Given the description of an element on the screen output the (x, y) to click on. 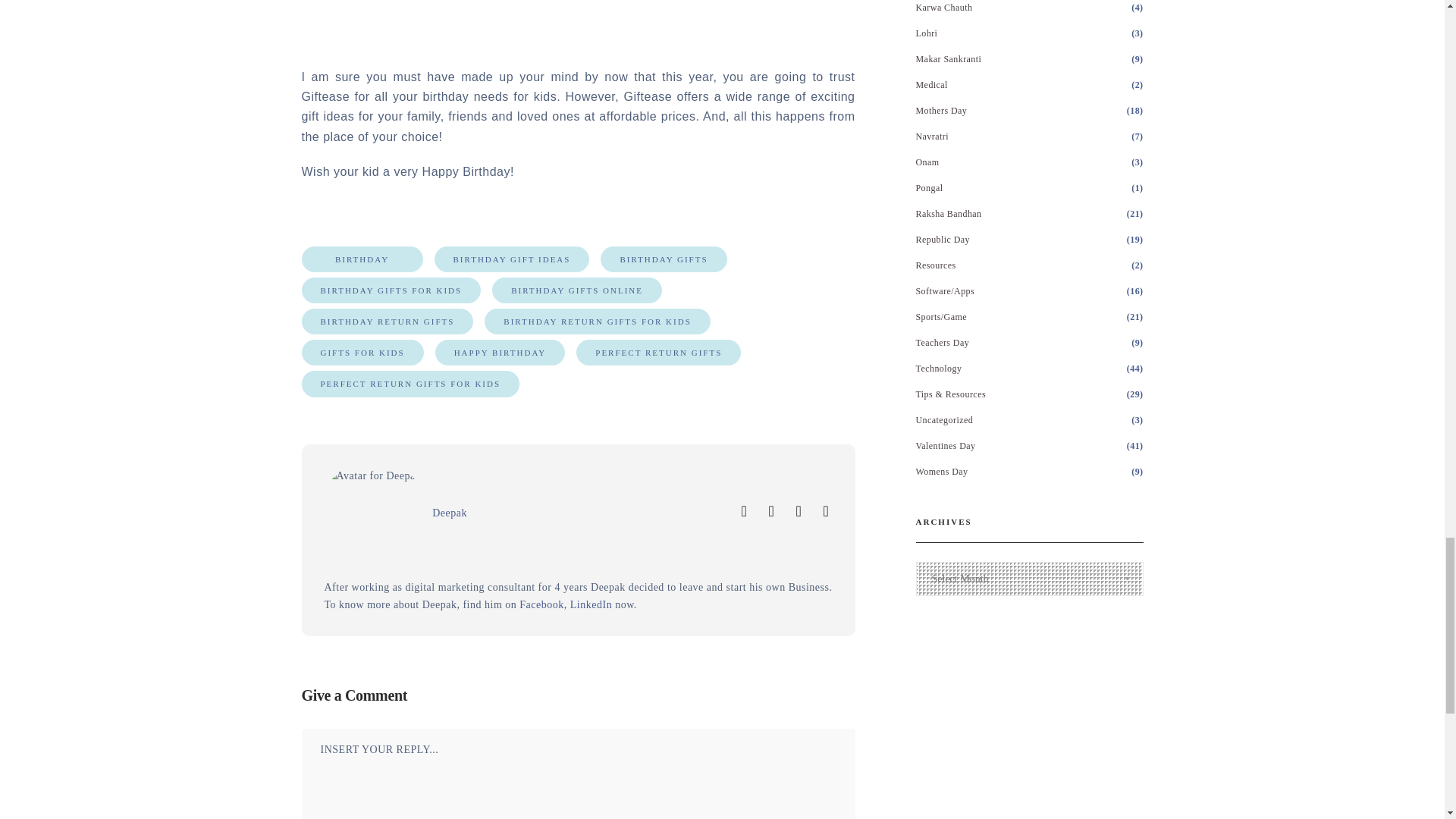
Gravatar for Deepak (373, 515)
PERFECT RETURN GIFTS (658, 352)
HAPPY BIRTHDAY (500, 352)
BIRTHDAY RETURN GIFTS (387, 321)
BIRTHDAY (362, 258)
GIFTS FOR KIDS (362, 352)
BIRTHDAY RETURN GIFTS FOR KIDS (597, 321)
BIRTHDAY GIFTS (662, 258)
BIRTHDAY GIFTS FOR KIDS (391, 290)
BIRTHDAY GIFTS ONLINE (577, 290)
BIRTHDAY GIFT IDEAS (511, 258)
